Given the description of an element on the screen output the (x, y) to click on. 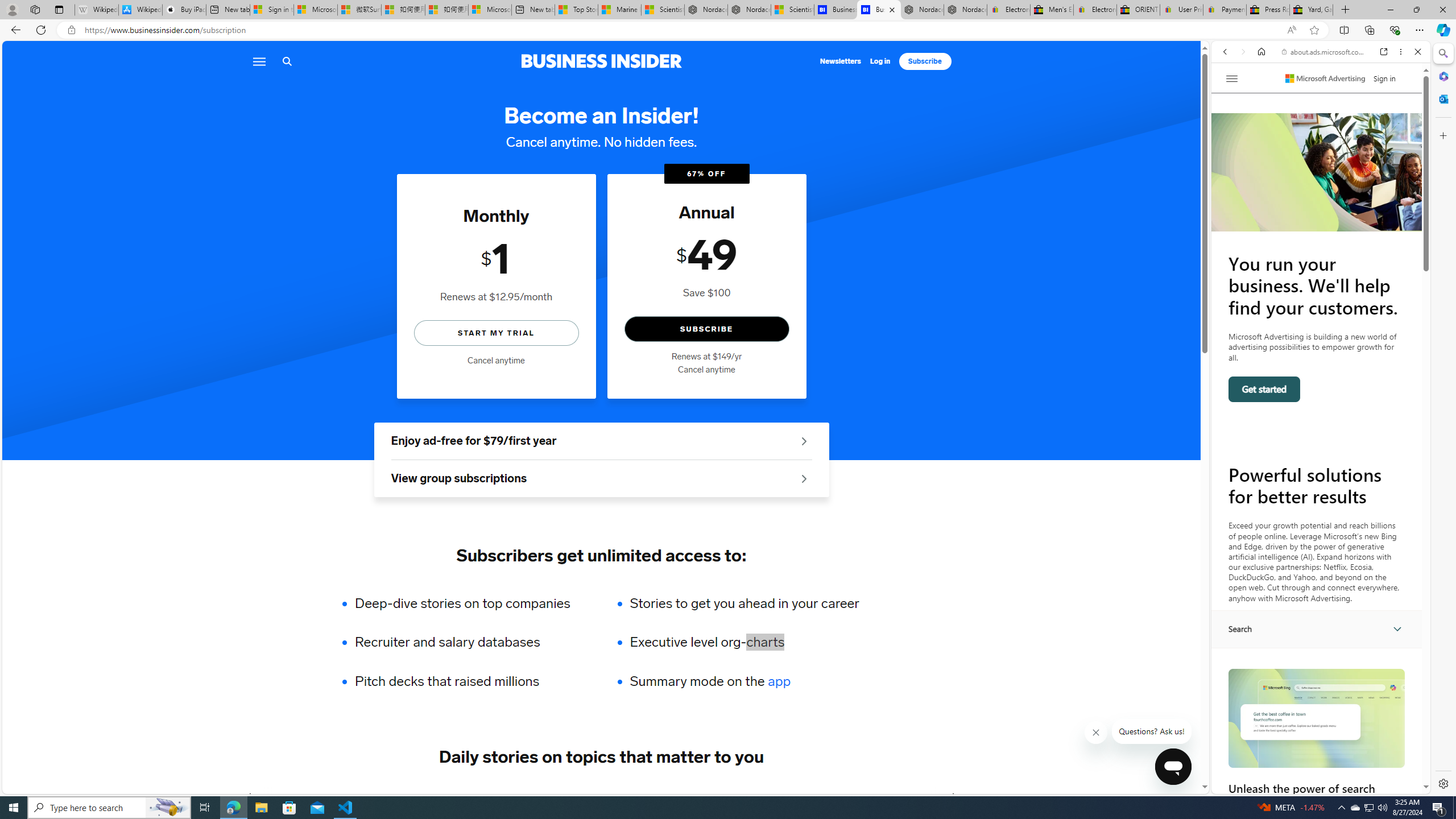
Newsletters (840, 61)
about.ads.microsoft.com (1323, 51)
Deep-dive stories on top companies (470, 602)
Open in New Tab (1321, 768)
Pitch decks that raised millions (470, 681)
